Given the description of an element on the screen output the (x, y) to click on. 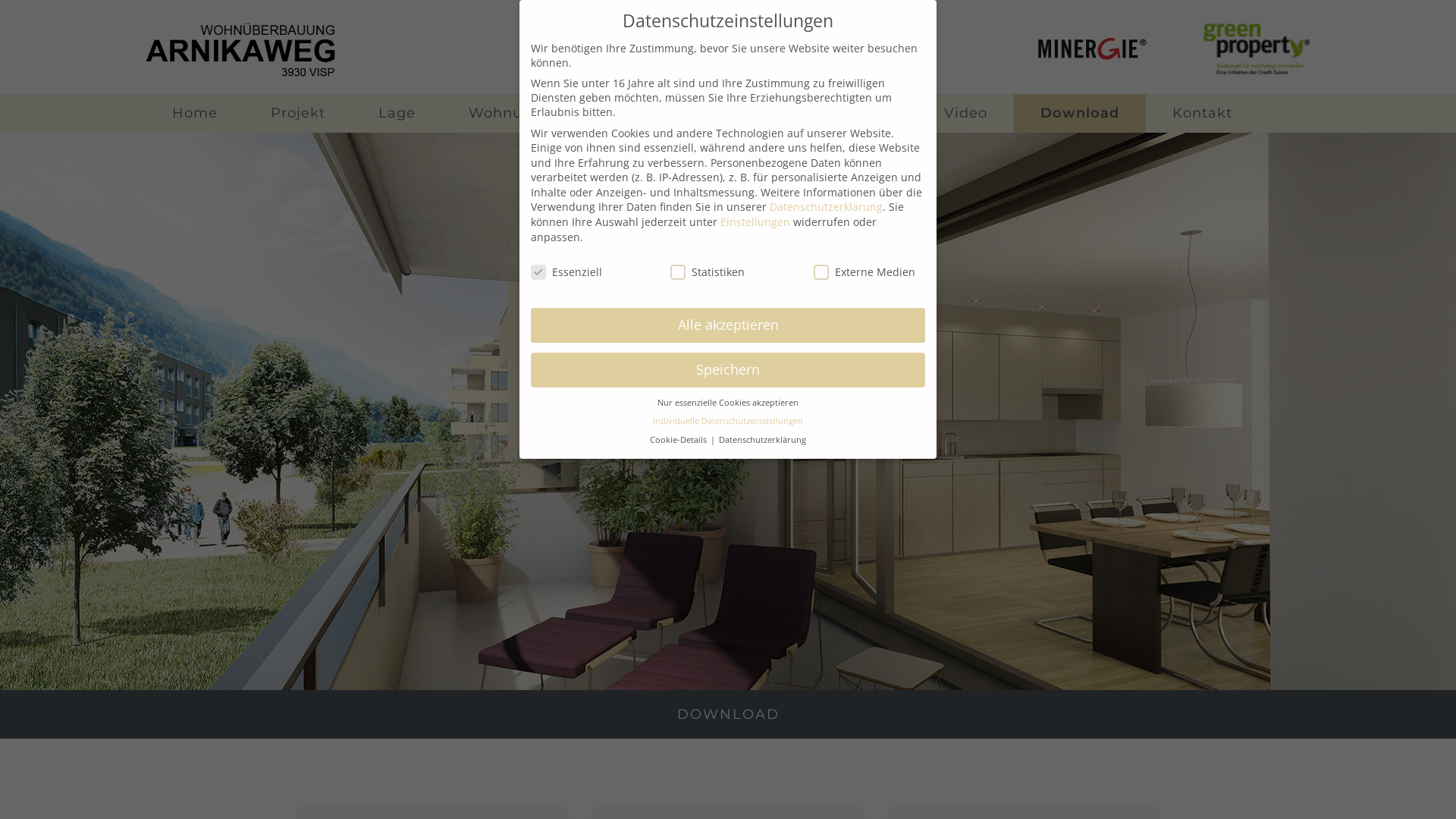
Speichern Element type: text (727, 369)
Alle akzeptieren Element type: text (727, 324)
Einstellungen Element type: text (755, 221)
Projekt Element type: text (297, 113)
Nur essenzielle Cookies akzeptieren Element type: text (727, 402)
Video Element type: text (965, 113)
Virtuelle Besichtigung Element type: text (698, 113)
Cookie-Details Element type: text (679, 439)
Kontakt Element type: text (1201, 113)
Individuelle Datenschutzeinstellungen Element type: text (727, 420)
Wohnungen Element type: text (514, 113)
Galerie Element type: text (863, 113)
Home Element type: text (194, 113)
Download Element type: text (1079, 113)
Lage Element type: text (396, 113)
